Given the description of an element on the screen output the (x, y) to click on. 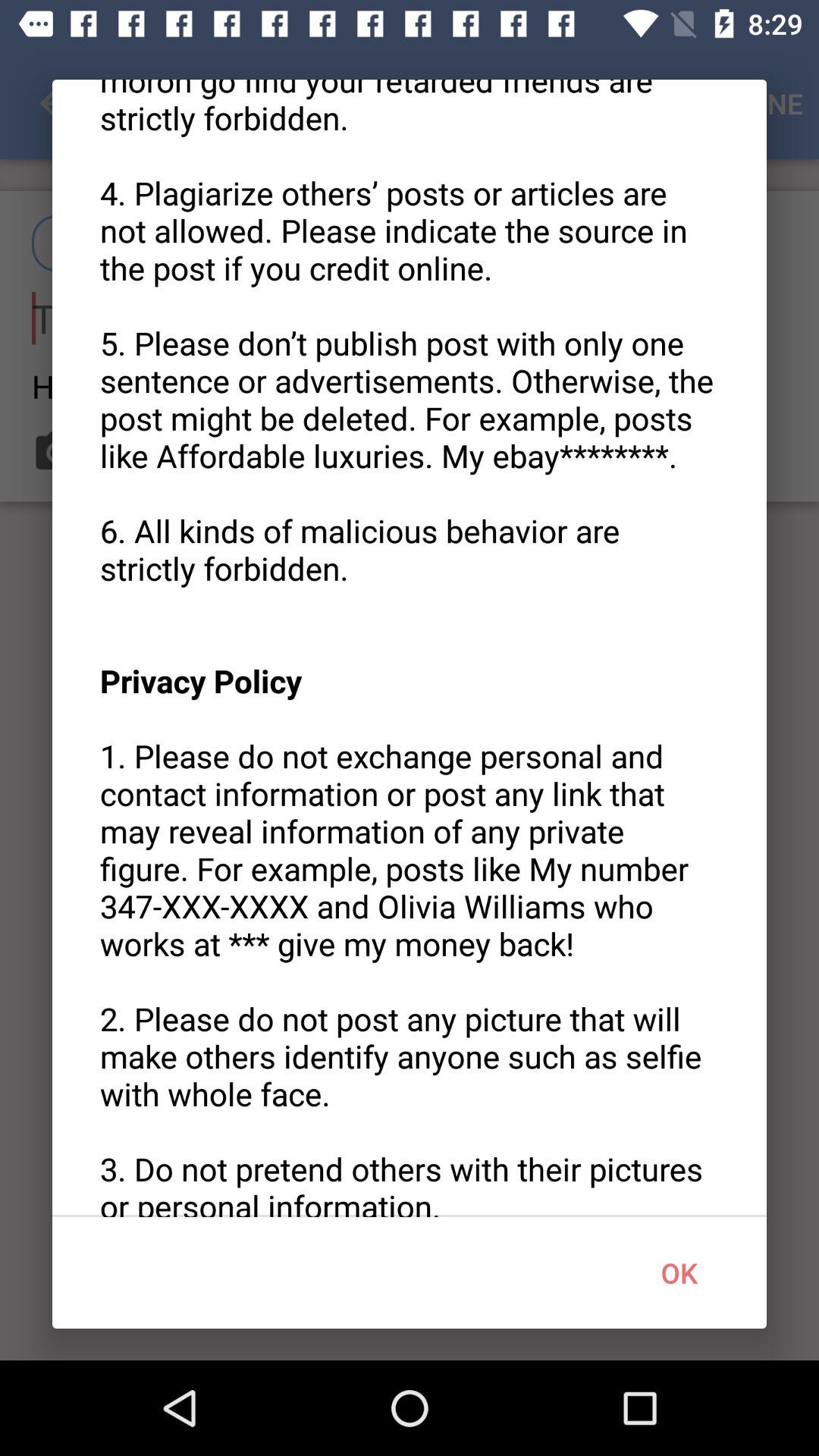
choose the ok (678, 1272)
